Given the description of an element on the screen output the (x, y) to click on. 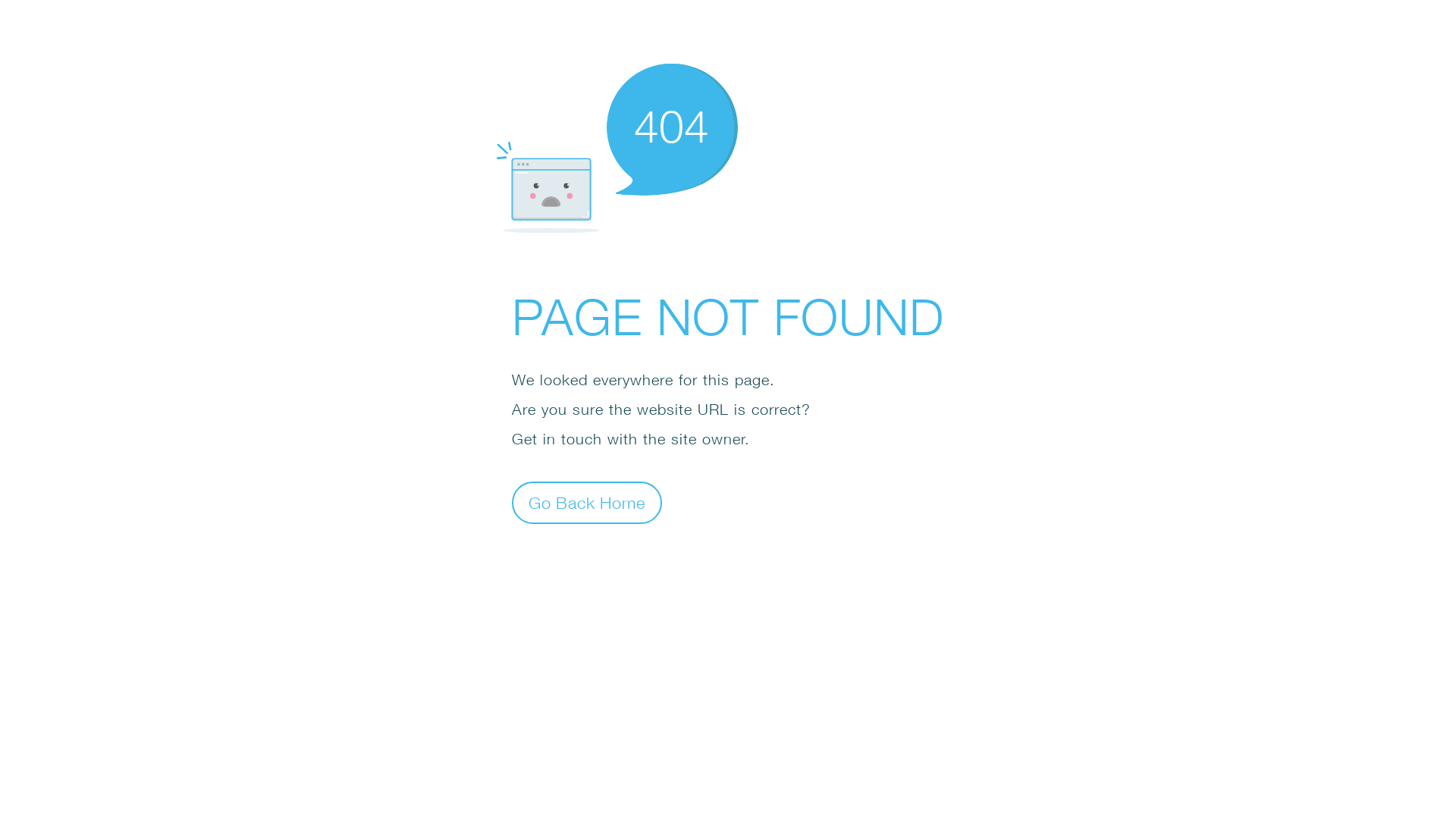
Go Back Home Element type: text (586, 502)
